Given the description of an element on the screen output the (x, y) to click on. 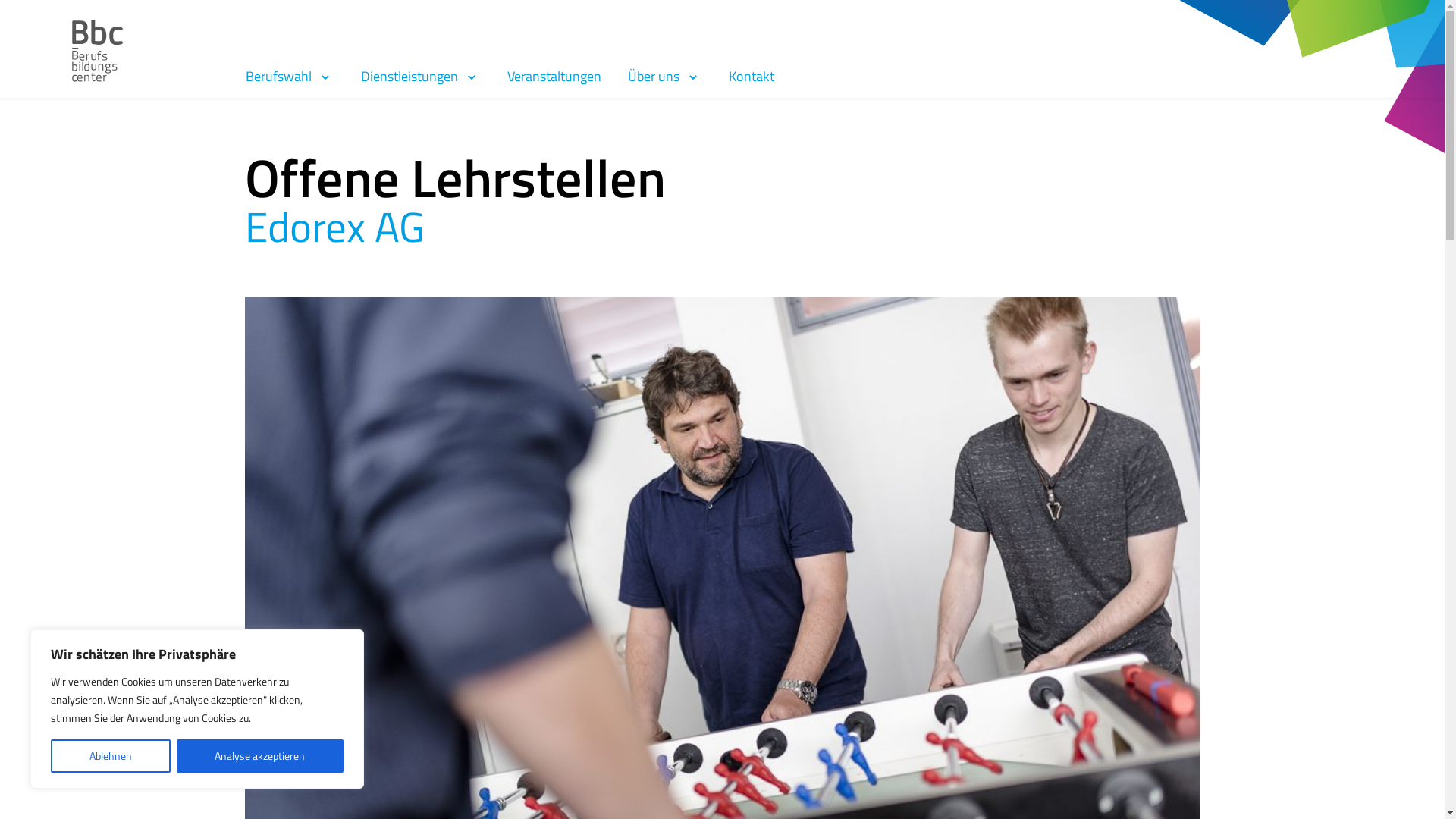
Veranstaltungen Element type: text (552, 75)
Ablehnen Element type: text (110, 755)
Analyse akzeptieren Element type: text (259, 755)
Berufswahl Element type: text (289, 75)
Kontakt Element type: text (749, 75)
Dienstleistungen Element type: text (420, 75)
